Given the description of an element on the screen output the (x, y) to click on. 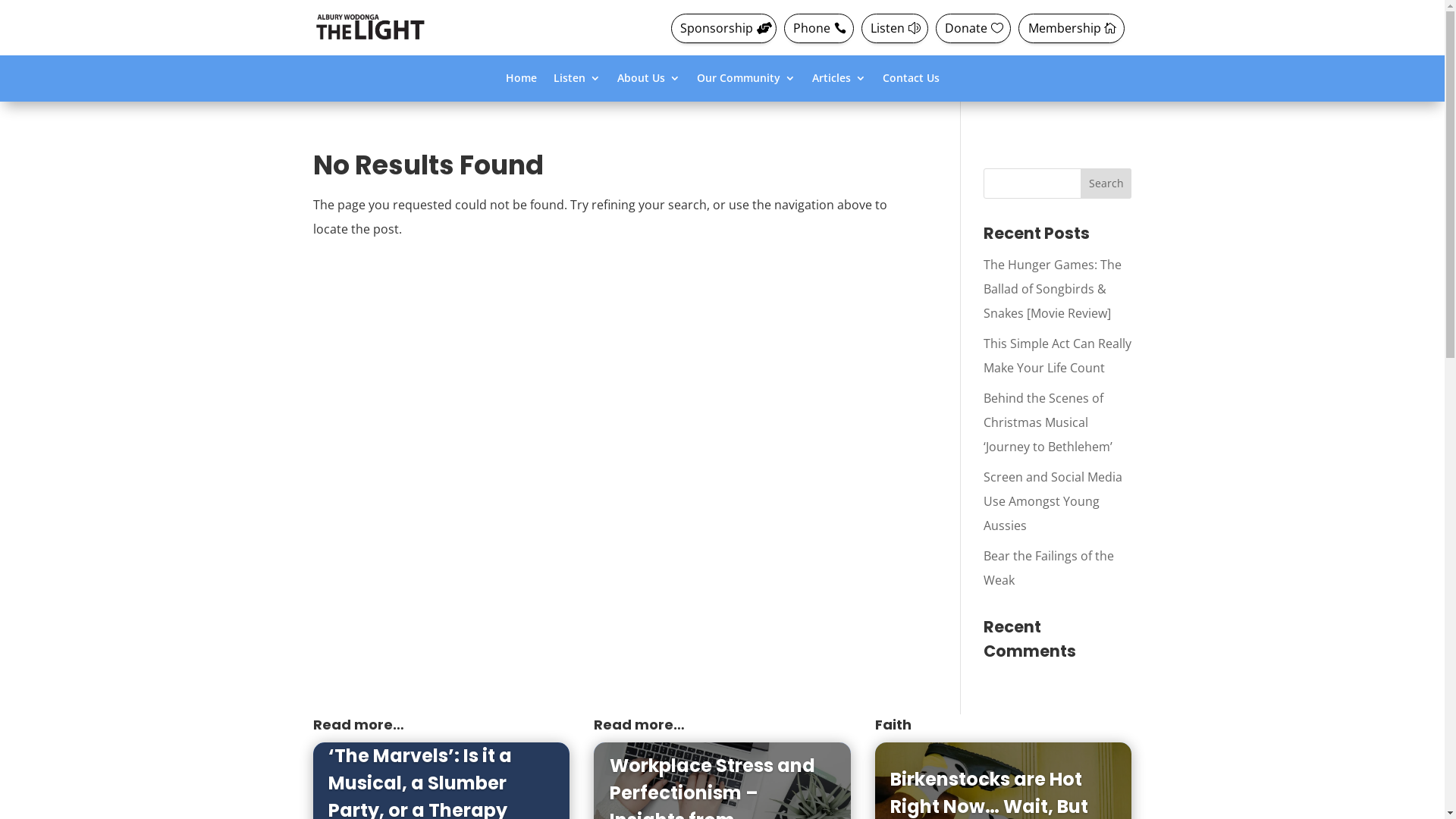
Listen Element type: text (894, 28)
LowRes-AW The Light Logo_Black-Text ONLY Element type: hover (369, 27)
Bear the Failings of the Weak Element type: text (1048, 567)
Membership Element type: text (1070, 28)
Phone Element type: text (818, 28)
Home Element type: text (520, 80)
Listen Element type: text (576, 80)
This Simple Act Can Really Make Your Life Count Element type: text (1057, 355)
Search Element type: text (1106, 183)
Donate Element type: text (972, 28)
About Us Element type: text (648, 80)
Our Community Element type: text (745, 80)
Screen and Social Media Use Amongst Young Aussies Element type: text (1052, 500)
Articles Element type: text (838, 80)
Sponsorship Element type: text (723, 28)
Contact Us Element type: text (910, 80)
